Given the description of an element on the screen output the (x, y) to click on. 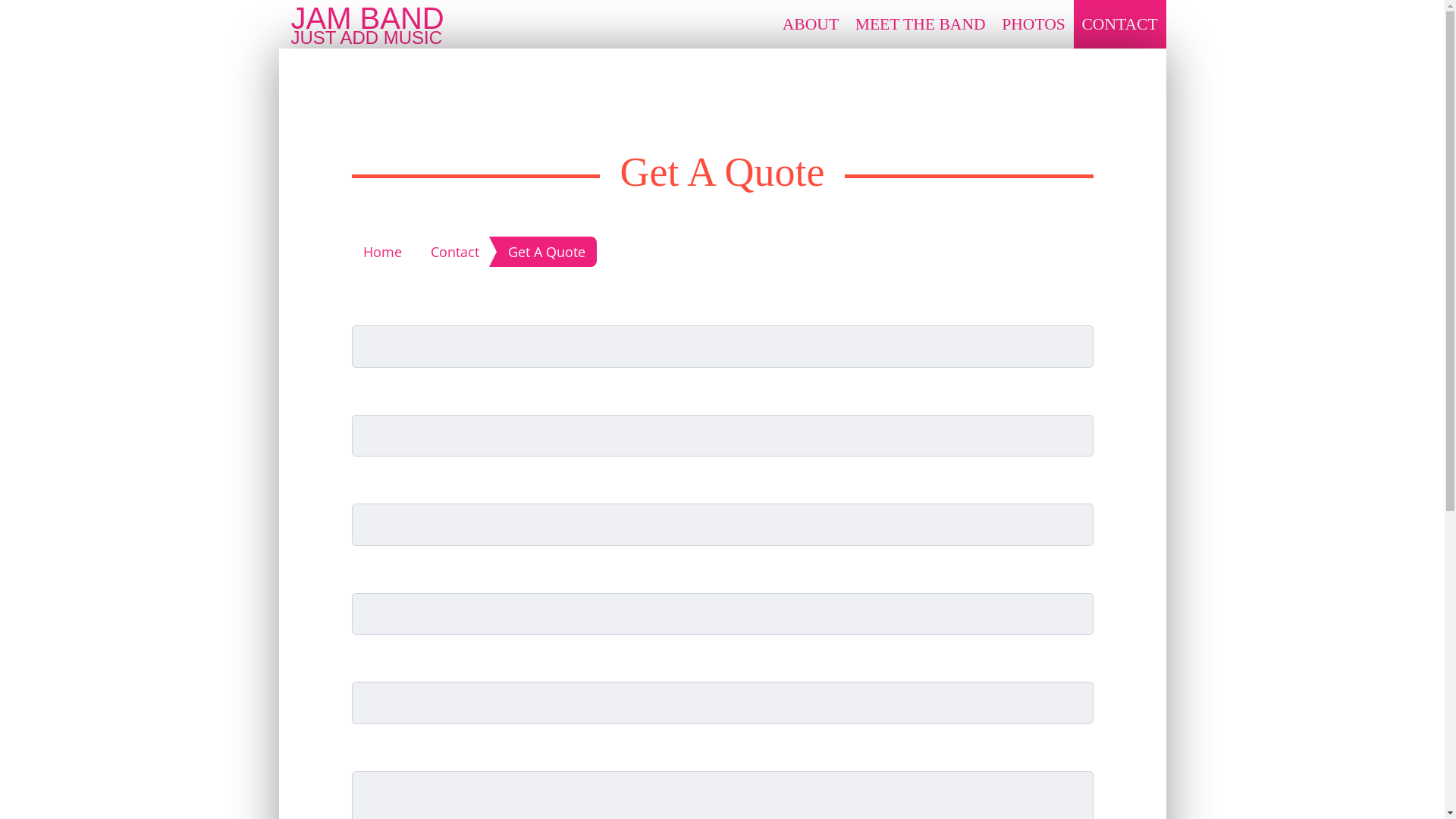
CONTACT Element type: text (1119, 24)
Contact Element type: text (456, 251)
JAM BAND
JUST ADD MUSIC Element type: text (367, 24)
Home Element type: text (380, 251)
ABOUT Element type: text (810, 24)
PHOTOS Element type: text (1033, 24)
MEET THE BAND Element type: text (920, 24)
